Given the description of an element on the screen output the (x, y) to click on. 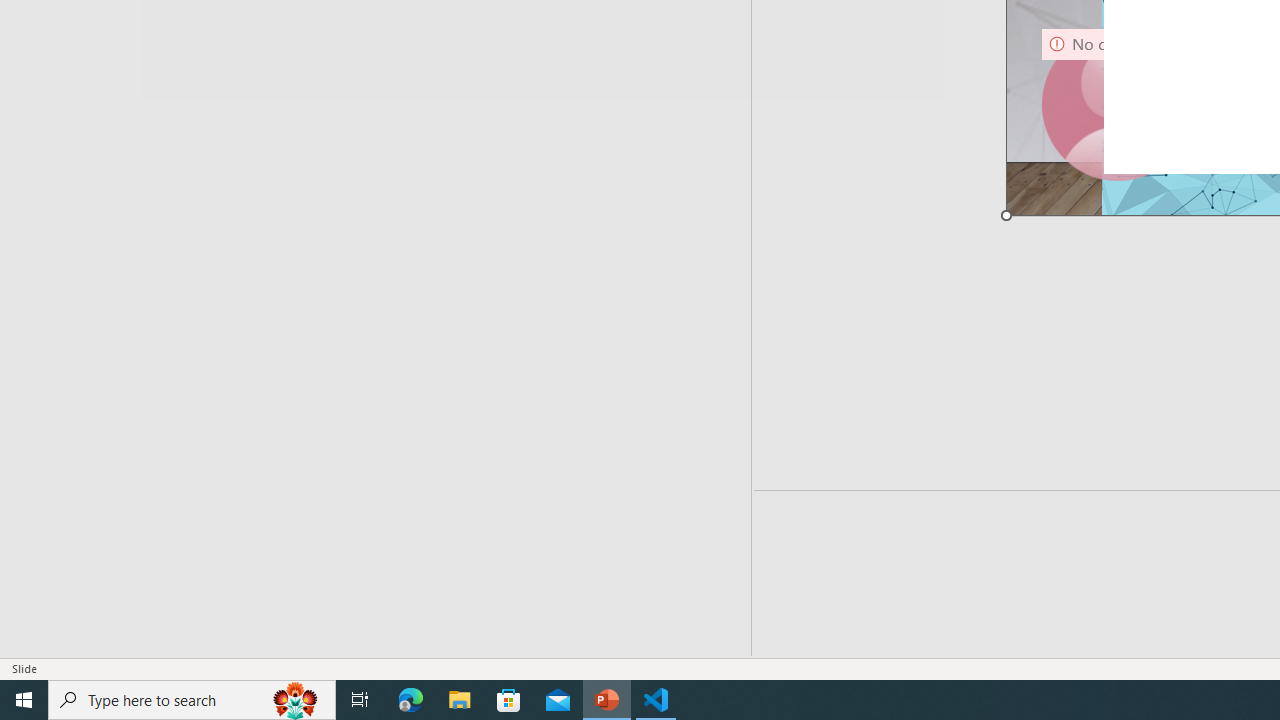
Camera 9, No camera detected. (1117, 104)
